Given the description of an element on the screen output the (x, y) to click on. 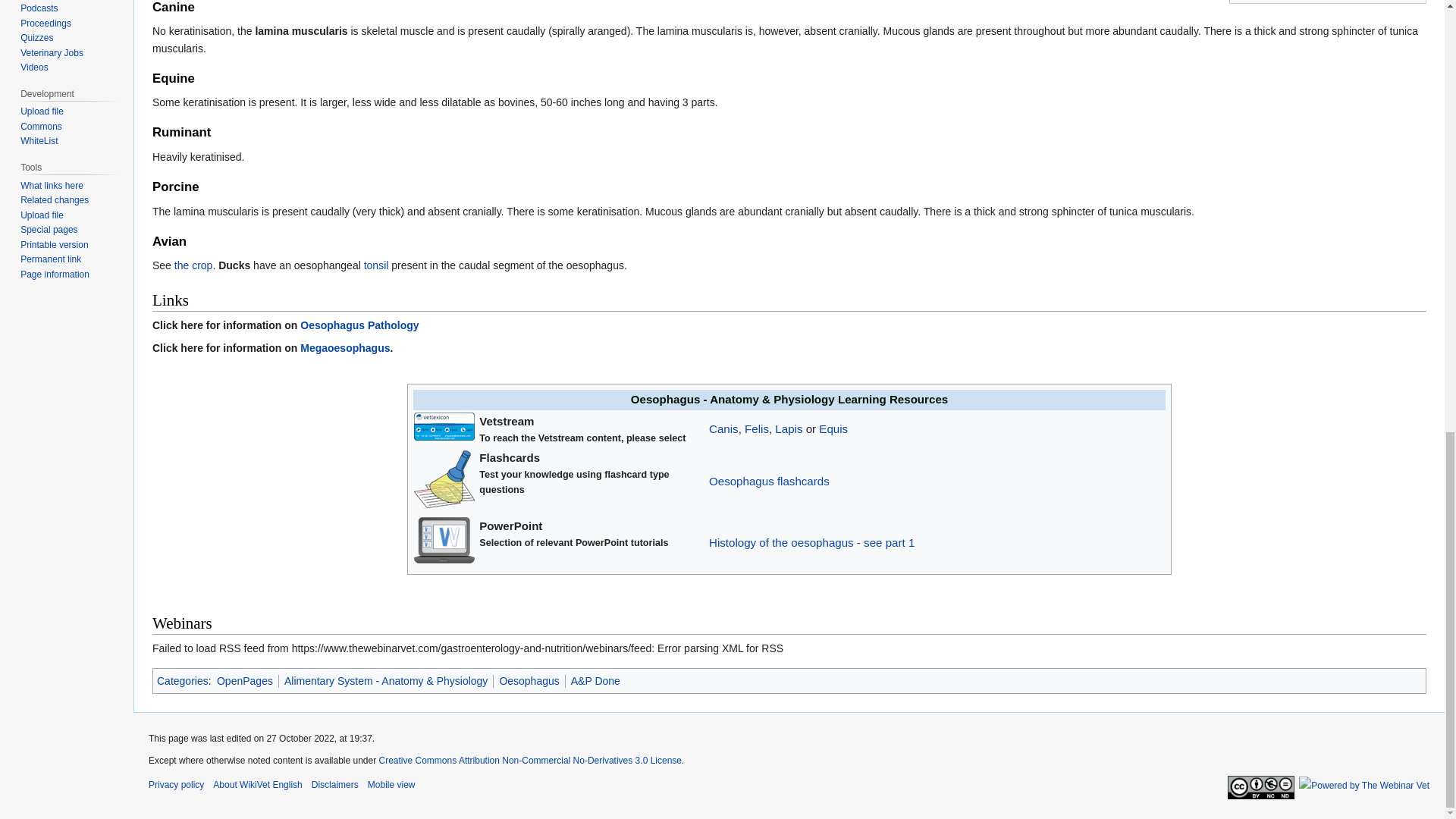
Category:Oesophagus - Pathology (359, 325)
tonsil (376, 265)
Lapis (788, 428)
Equis (832, 428)
Megaoesophagus (344, 347)
Felis (756, 428)
Categories (182, 680)
Felis (756, 428)
Histology of the oesophagus - see part 1 (811, 542)
Oesophagus flashcards (769, 481)
Oesophagus Pathology (359, 325)
Canis (723, 428)
Canis (723, 428)
the crop (193, 265)
Megaoesophagus (344, 347)
